Given the description of an element on the screen output the (x, y) to click on. 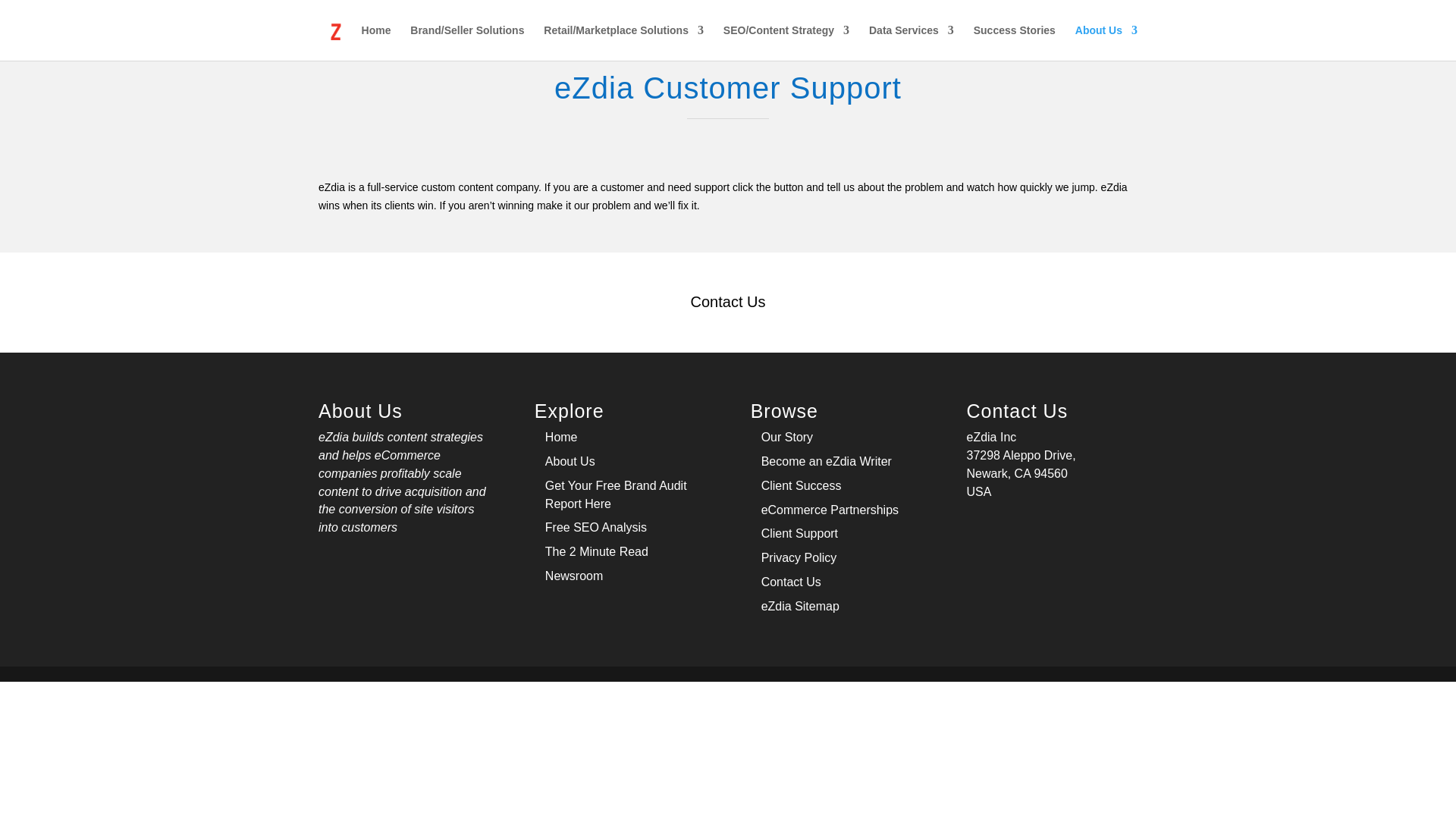
Success Stories (1014, 42)
About Us (1106, 42)
Data Services (911, 42)
